Given the description of an element on the screen output the (x, y) to click on. 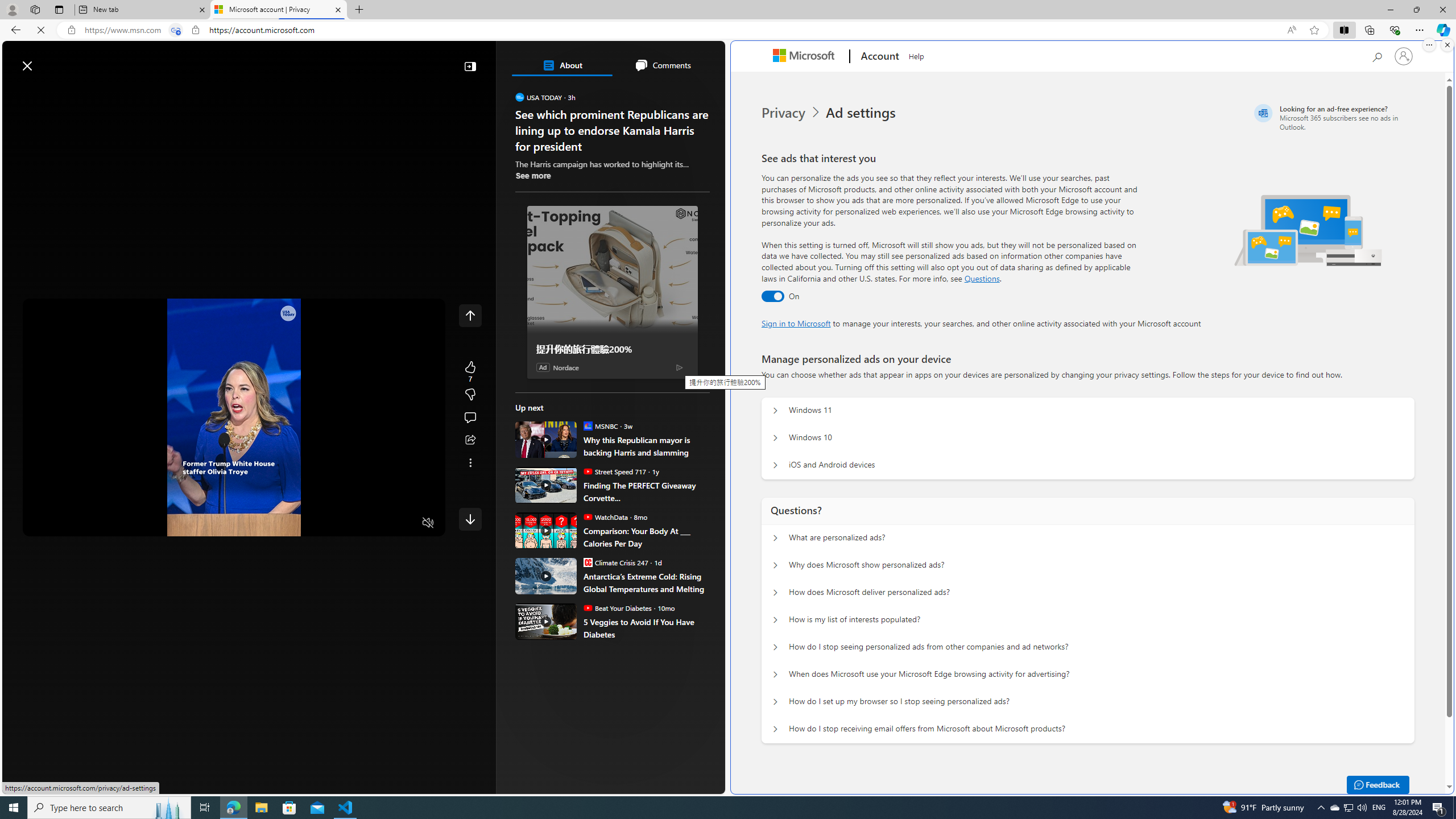
MSNBC MSNBC (600, 425)
Unmute (427, 523)
Ad settings (862, 112)
Questions? Why does Microsoft show personalized ads? (775, 565)
5 Veggies to Avoid If You Have Diabetes (545, 620)
More options. (1428, 45)
Help (915, 54)
Enter your search term (366, 59)
Illustration of multiple devices (1308, 229)
